Given the description of an element on the screen output the (x, y) to click on. 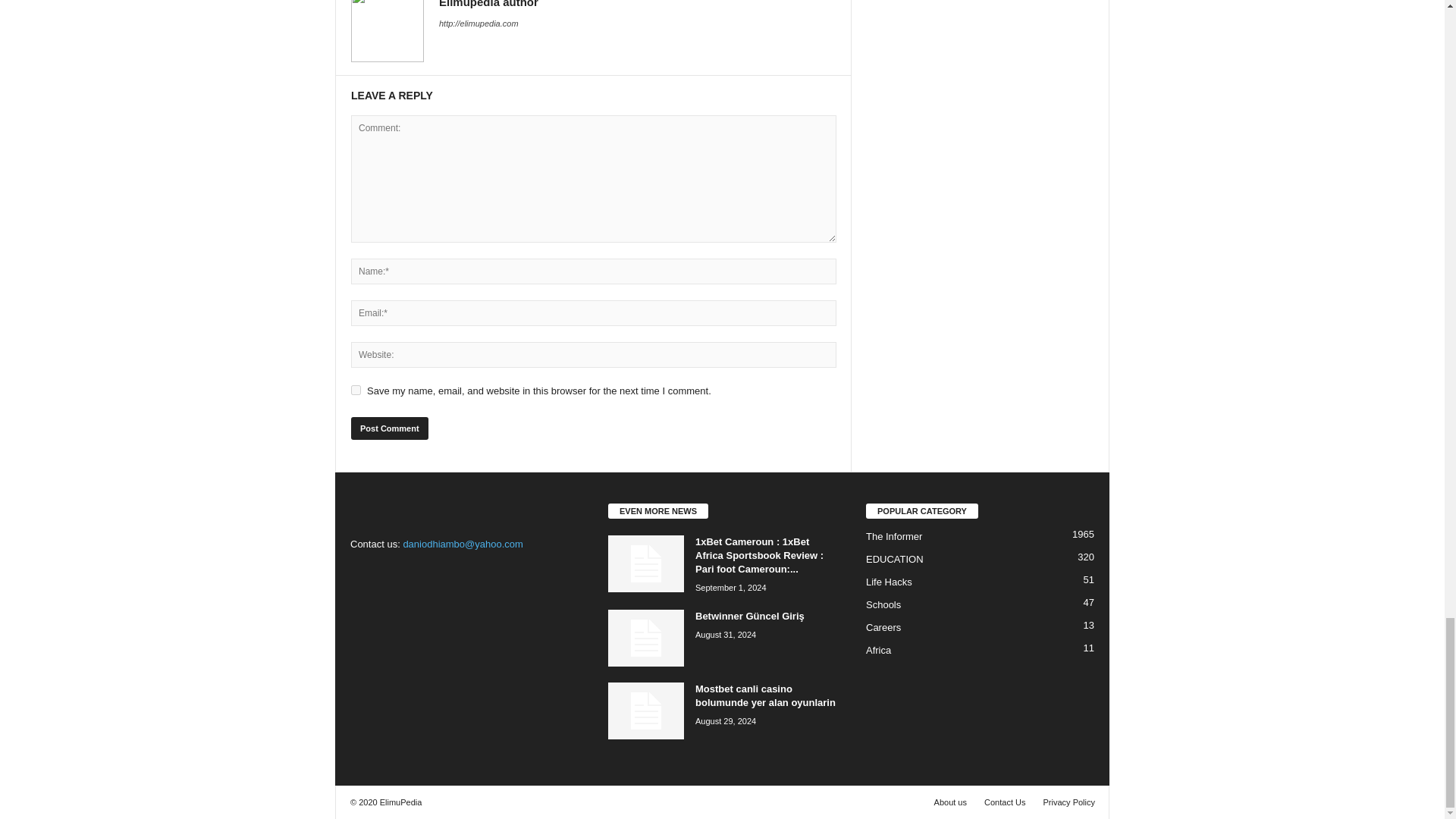
Mostbet canli casino bolumunde yer alan oyunlarin (765, 695)
yes (355, 389)
Post Comment (389, 427)
Mostbet canli casino bolumunde yer alan oyunlarin (646, 710)
